Given the description of an element on the screen output the (x, y) to click on. 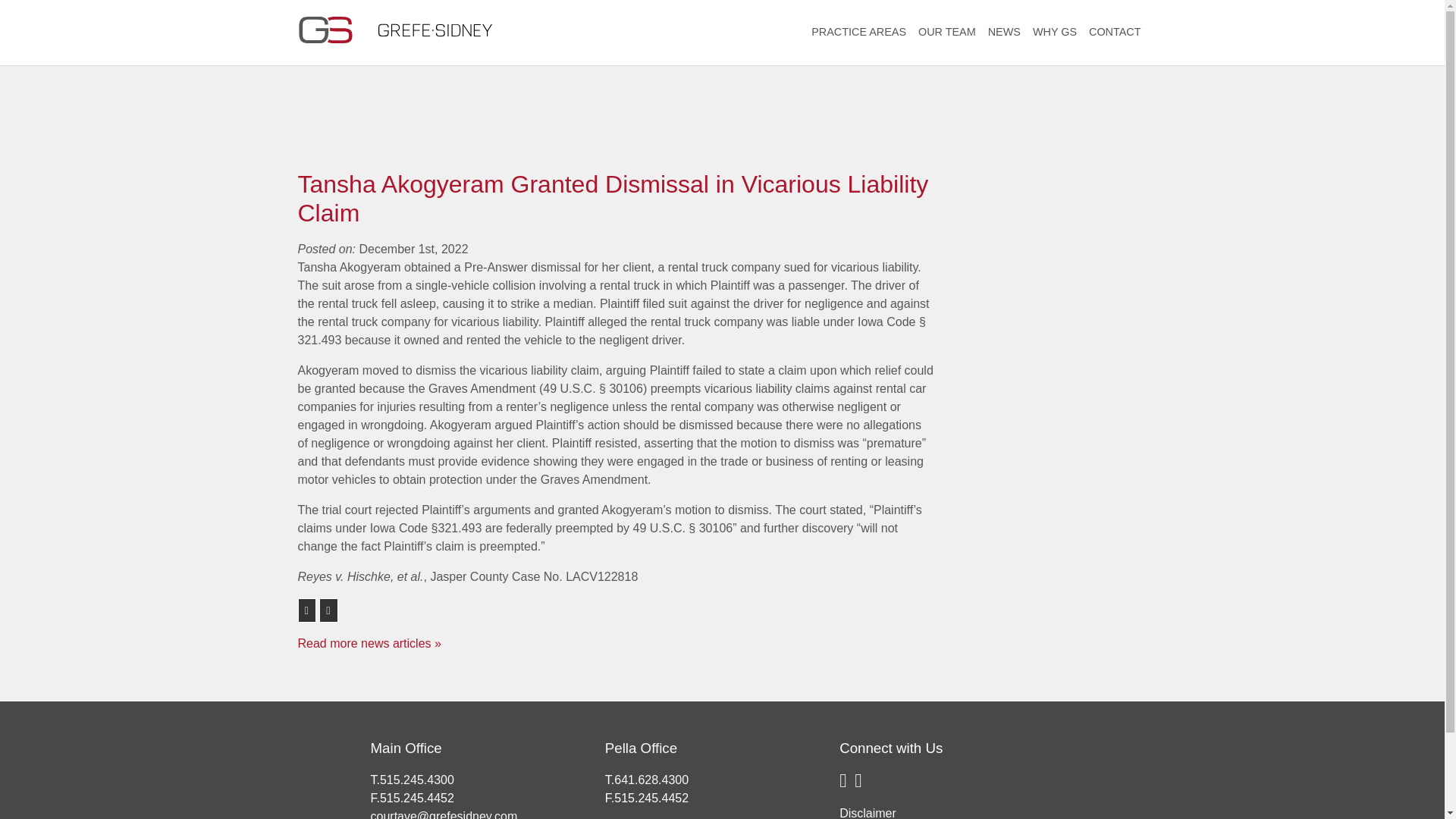
641.628.4300 (651, 779)
CONTACT (1115, 32)
Main Office (405, 747)
PRACTICE AREAS (858, 32)
contact-link (1115, 32)
OUR TEAM (946, 32)
Disclaimer (868, 812)
515.245.4300 (417, 779)
Pella Office (641, 747)
